Given the description of an element on the screen output the (x, y) to click on. 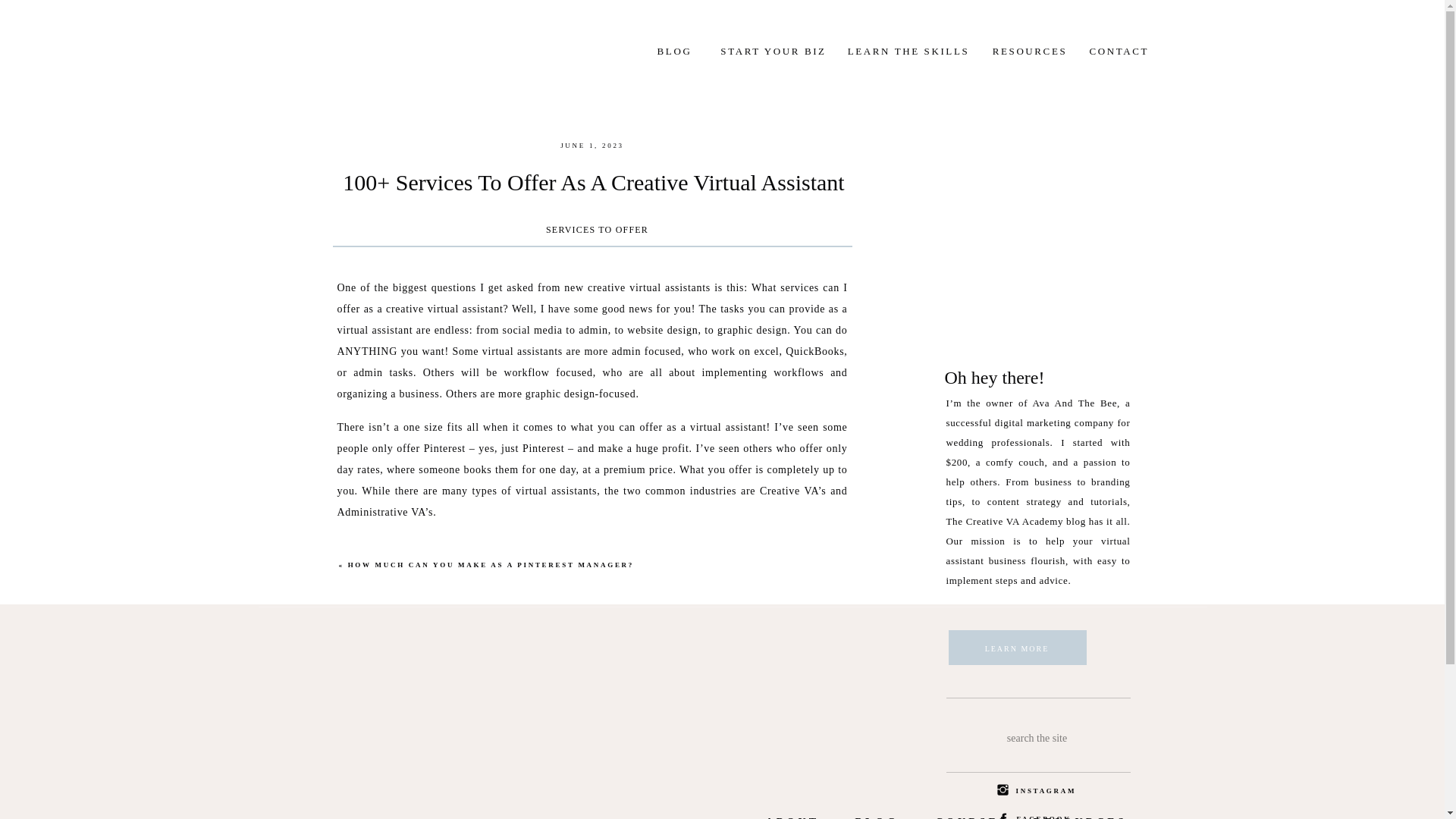
BLOG (674, 47)
RESOURCES (1030, 47)
LEARN MORE (1015, 650)
FACEBOOK (1045, 816)
HOW MUCH CAN YOU MAKE AS A PINTEREST MANAGER? (490, 564)
INSTAGRAM (1046, 791)
LEARN THE SKILLS (908, 47)
START YOUR BIZ (773, 47)
SERVICES TO OFFER (596, 229)
CONTACT (1117, 47)
